Given the description of an element on the screen output the (x, y) to click on. 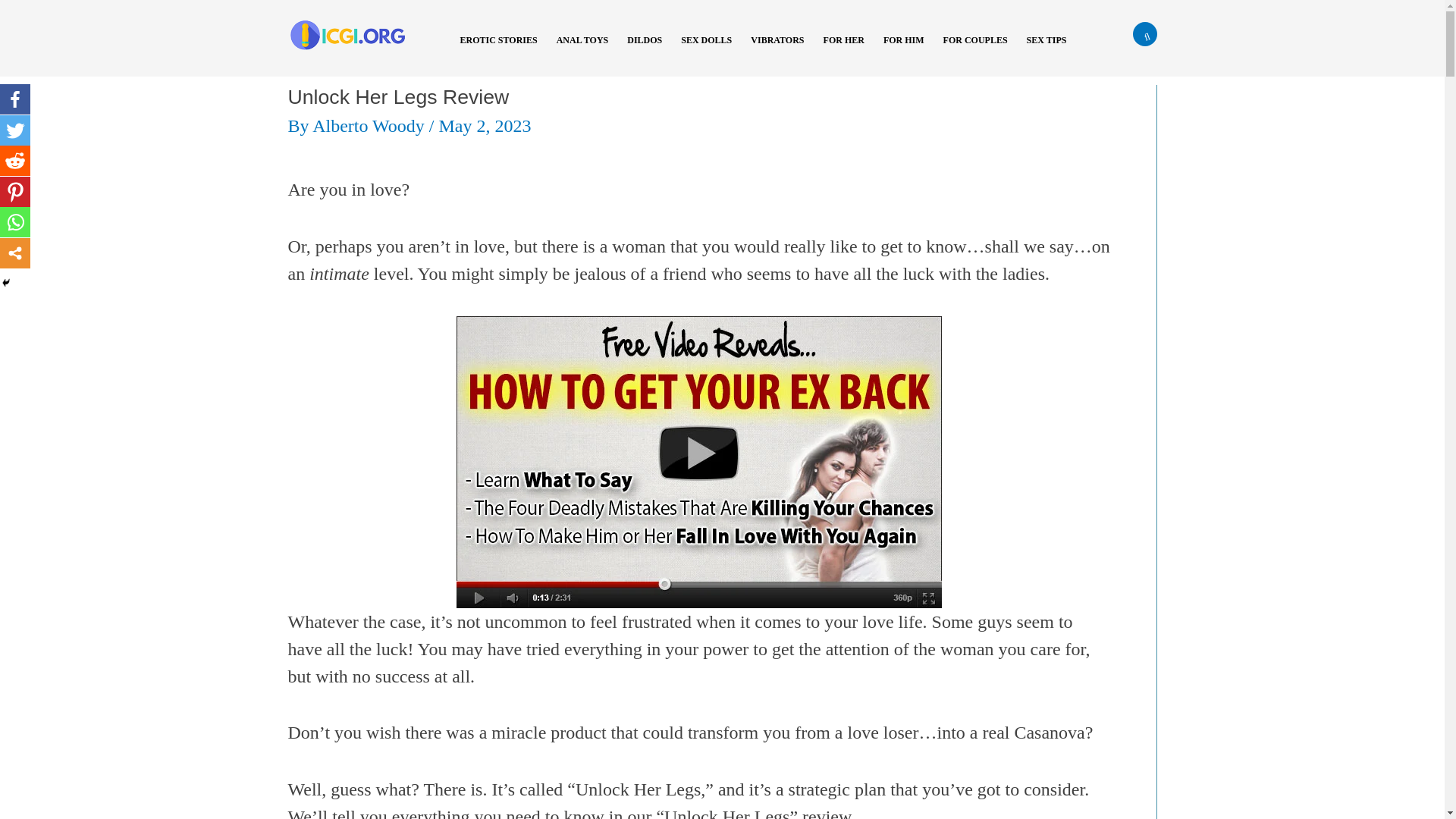
SEX TIPS (1052, 50)
FOR COUPLES (981, 50)
FOR HER (850, 50)
View all posts by Alberto Woody (371, 125)
EROTIC STORIES (504, 50)
Alberto Woody (371, 125)
ANAL TOYS (588, 50)
SEX DOLLS (711, 50)
DILDOS (649, 50)
FOR HIM (909, 50)
Facebook (15, 99)
Pinterest (15, 191)
Hide (5, 282)
VIBRATORS (783, 50)
Reddit (15, 160)
